Given the description of an element on the screen output the (x, y) to click on. 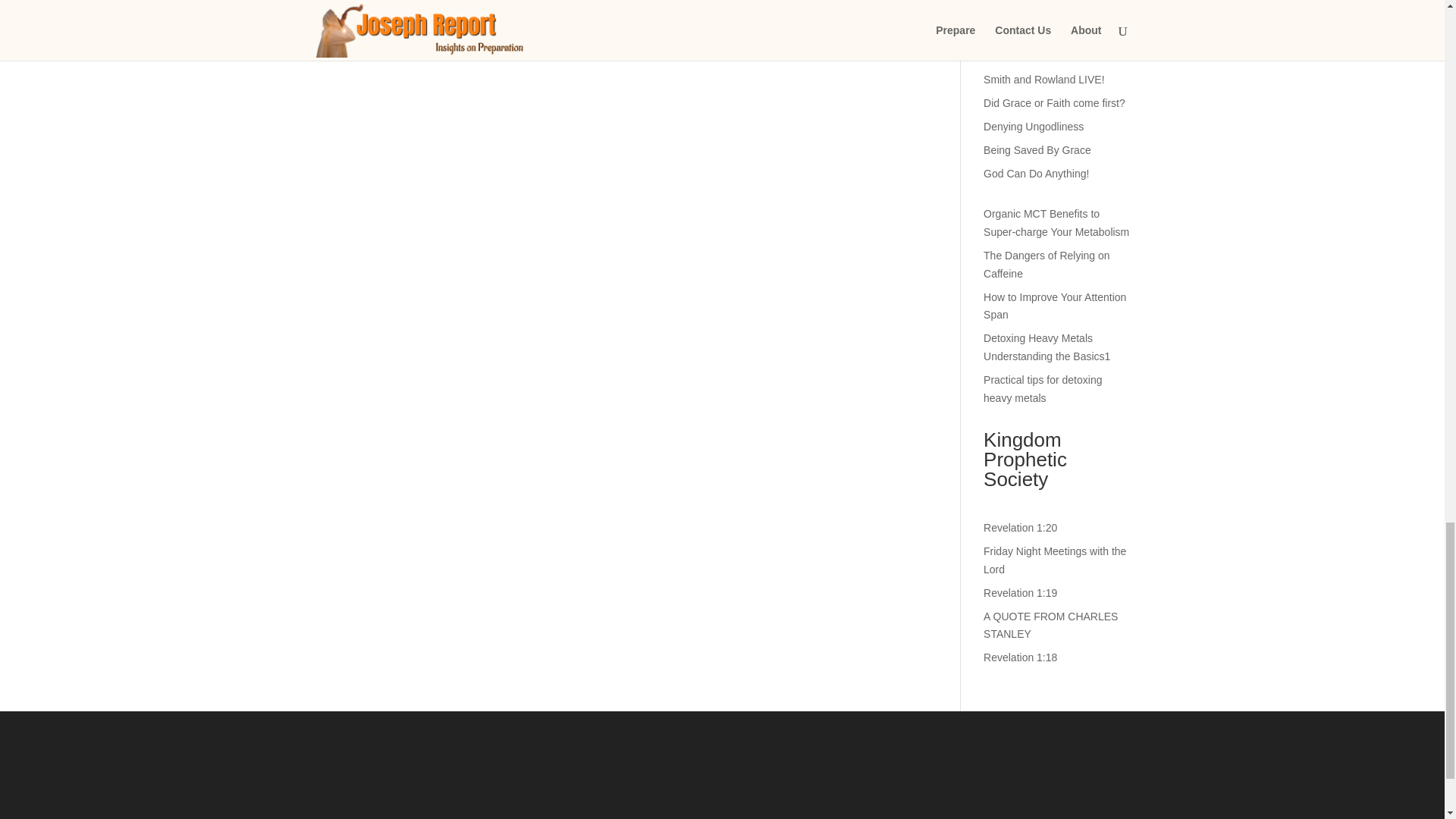
Did Grace or Faith come first? (1054, 102)
God Can Do Anything! (1036, 173)
Smith and Rowland LIVE! (1044, 79)
Denying Ungodliness (1033, 126)
Being Saved By Grace (1037, 150)
Organic MCT Benefits to Super-charge Your Metabolism (1056, 223)
